Given the description of an element on the screen output the (x, y) to click on. 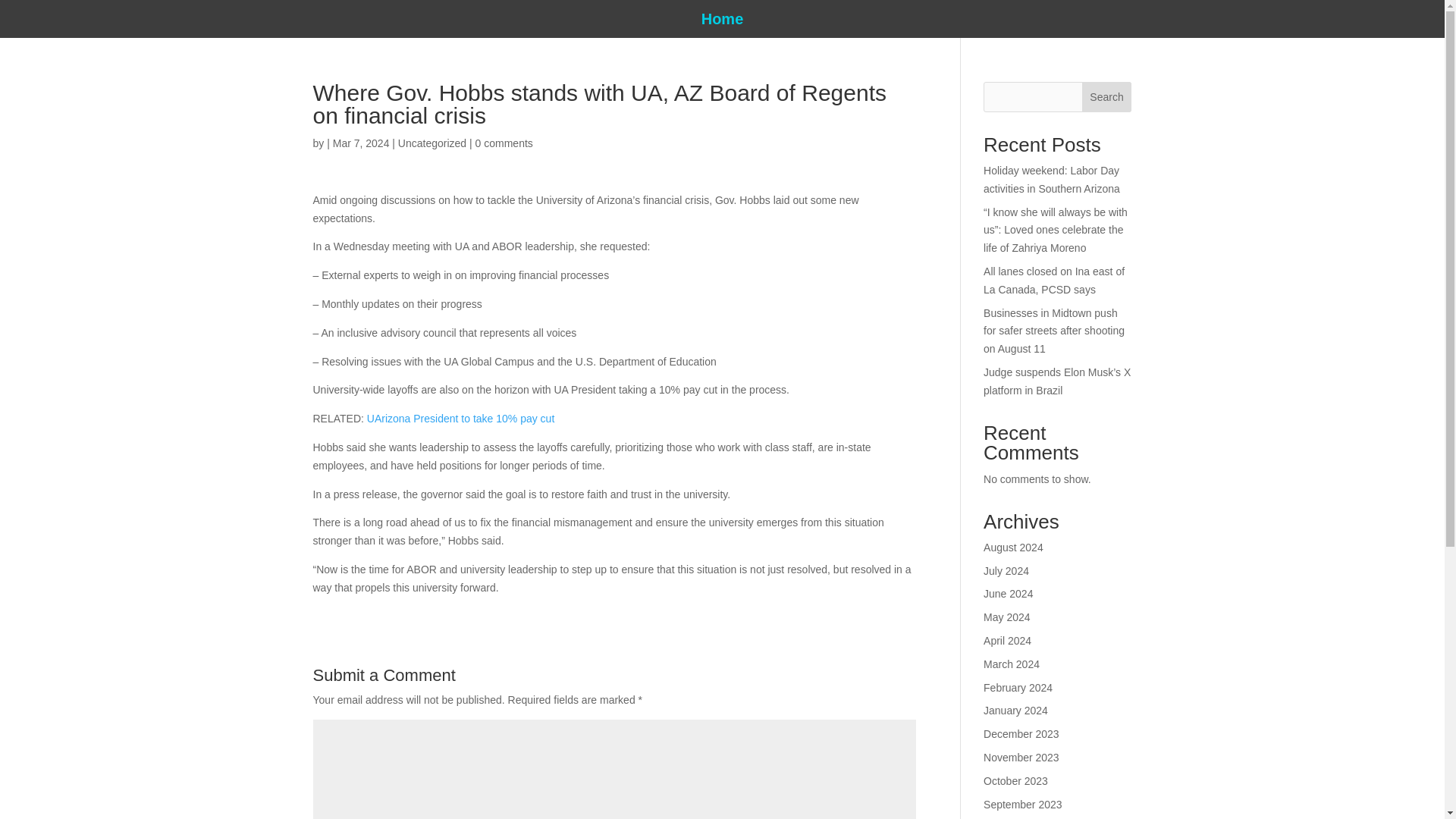
April 2024 (1007, 640)
June 2024 (1008, 593)
December 2023 (1021, 734)
October 2023 (1016, 780)
Uncategorized (431, 143)
February 2024 (1018, 687)
May 2024 (1006, 616)
All lanes closed on Ina east of La Canada, PCSD says (1054, 280)
November 2023 (1021, 757)
September 2023 (1023, 804)
